Given the description of an element on the screen output the (x, y) to click on. 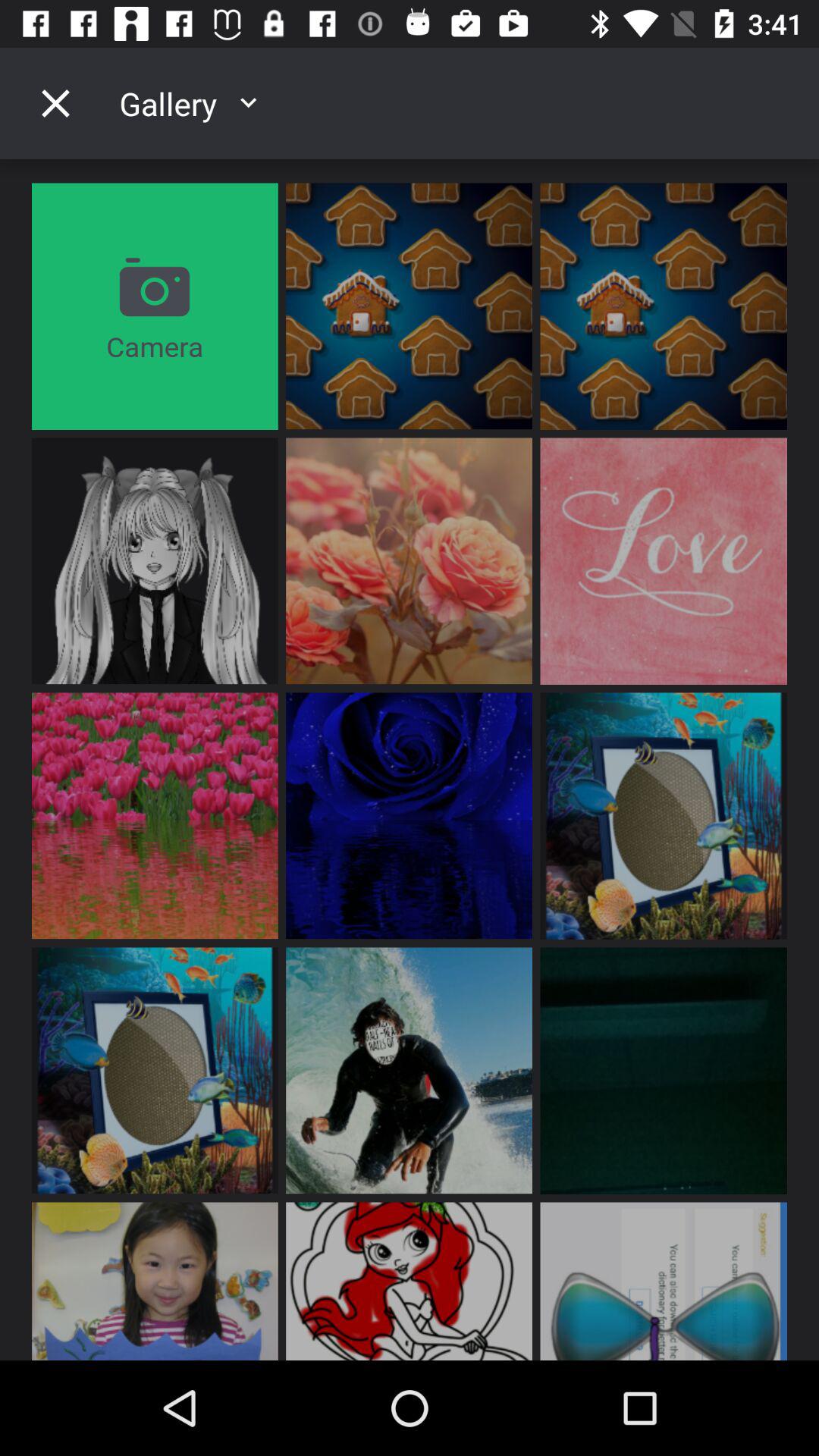
close gallery (55, 103)
